Given the description of an element on the screen output the (x, y) to click on. 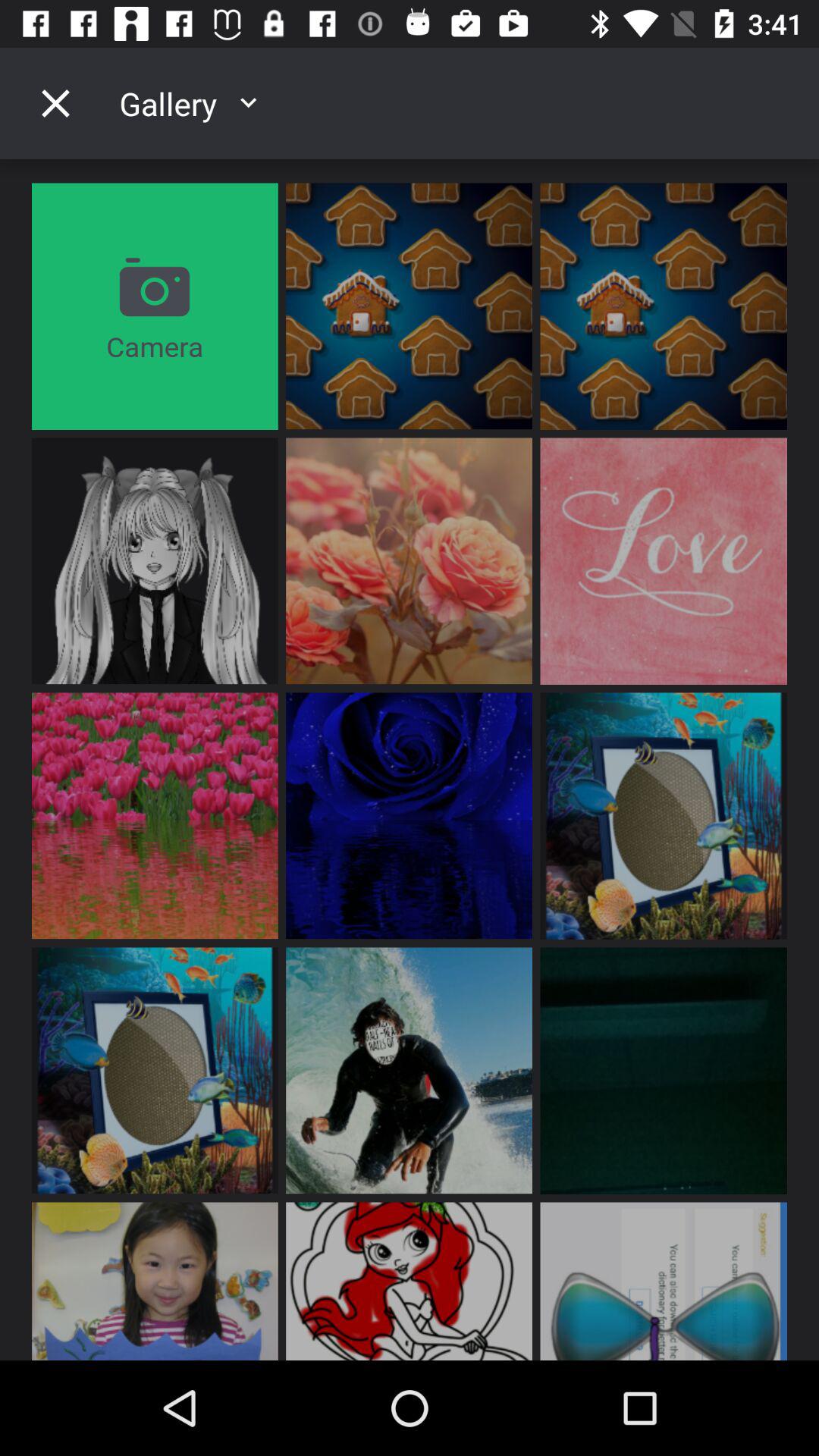
close gallery (55, 103)
